Given the description of an element on the screen output the (x, y) to click on. 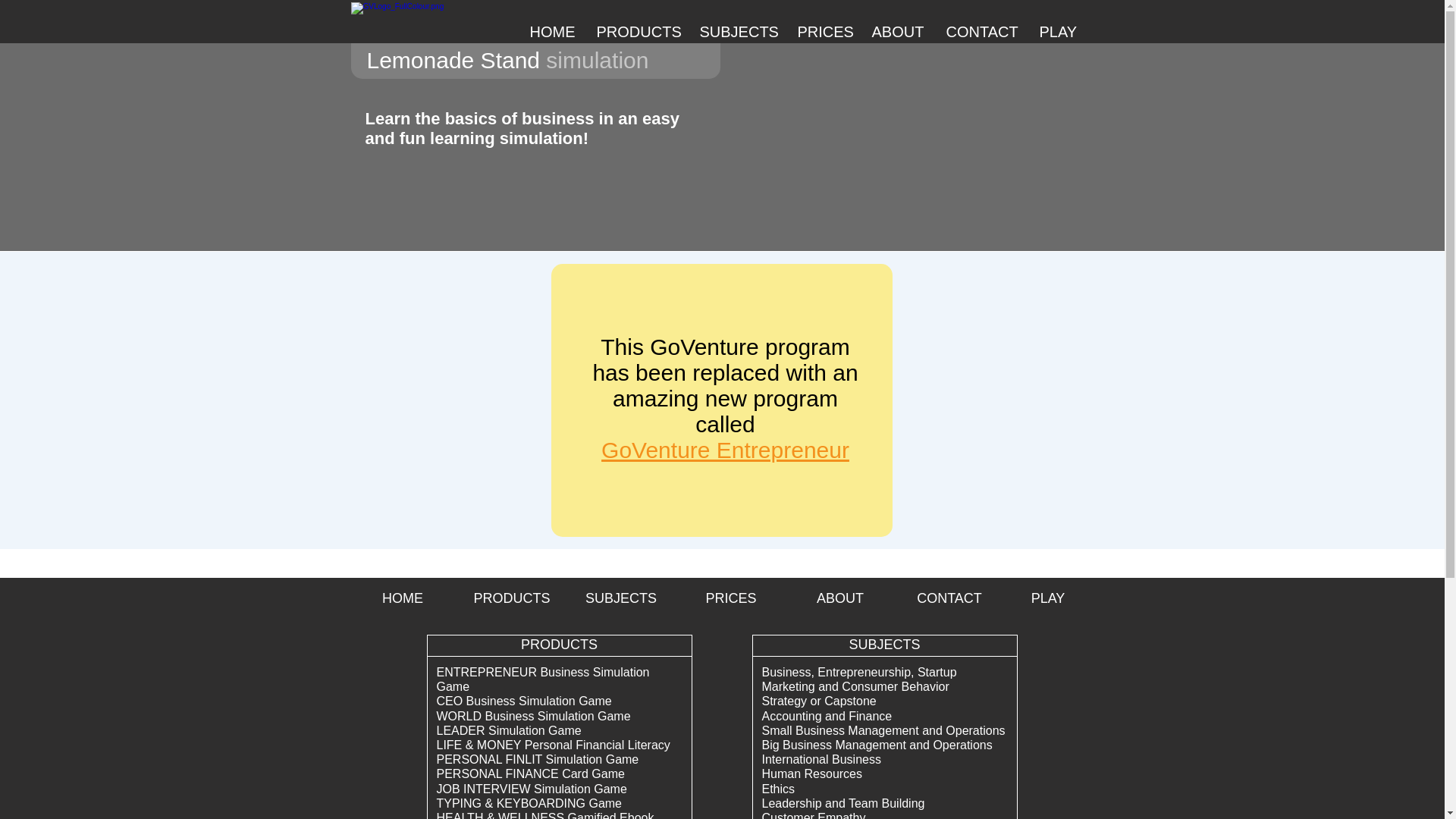
PRODUCTS (558, 644)
SUBJECTS (884, 644)
ABOUT (897, 32)
PRODUCTS (511, 598)
PLAY (1047, 598)
PRODUCTS (635, 32)
GoVenture Home (426, 21)
HOME (551, 32)
CONTACT (980, 32)
SUBJECTS (735, 32)
PLAY (1056, 32)
ABOUT (839, 598)
CONTACT (949, 598)
HOME (402, 598)
SUBJECTS (620, 598)
